Given the description of an element on the screen output the (x, y) to click on. 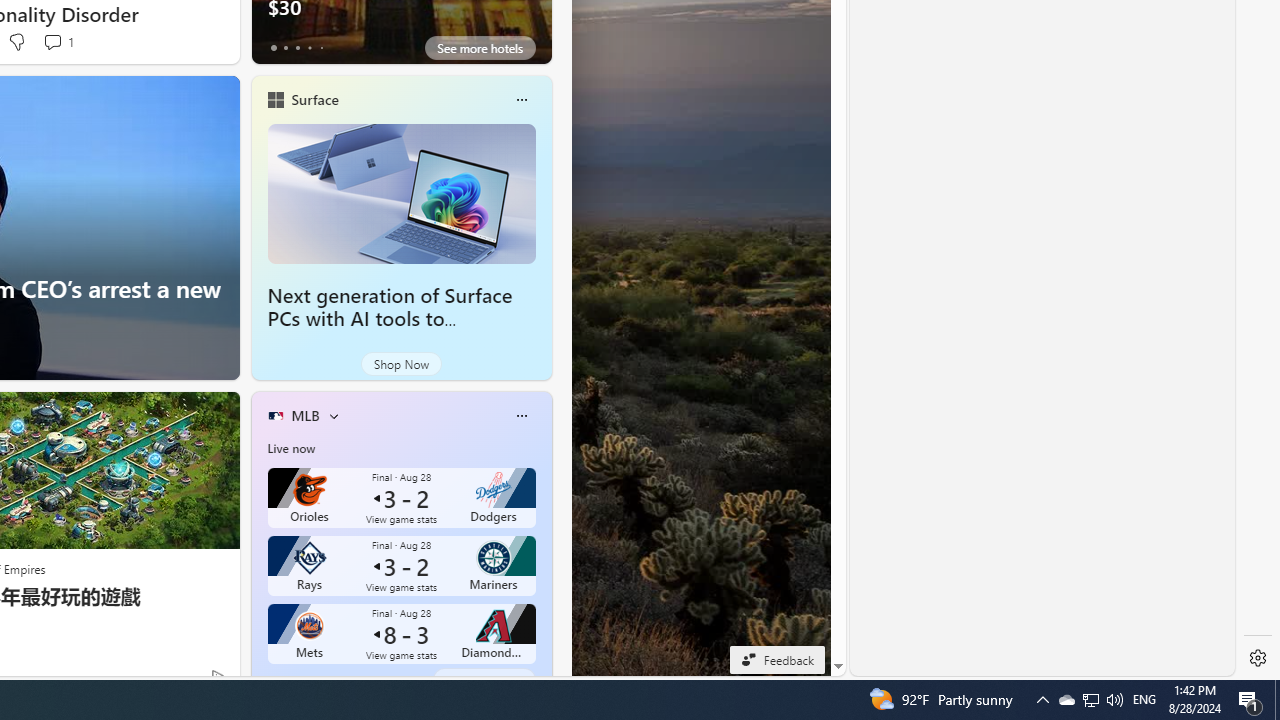
View comments 1 Comment (52, 41)
Surface (314, 99)
MLB (305, 415)
tab-2 (297, 679)
tab-3 (309, 679)
